Given the description of an element on the screen output the (x, y) to click on. 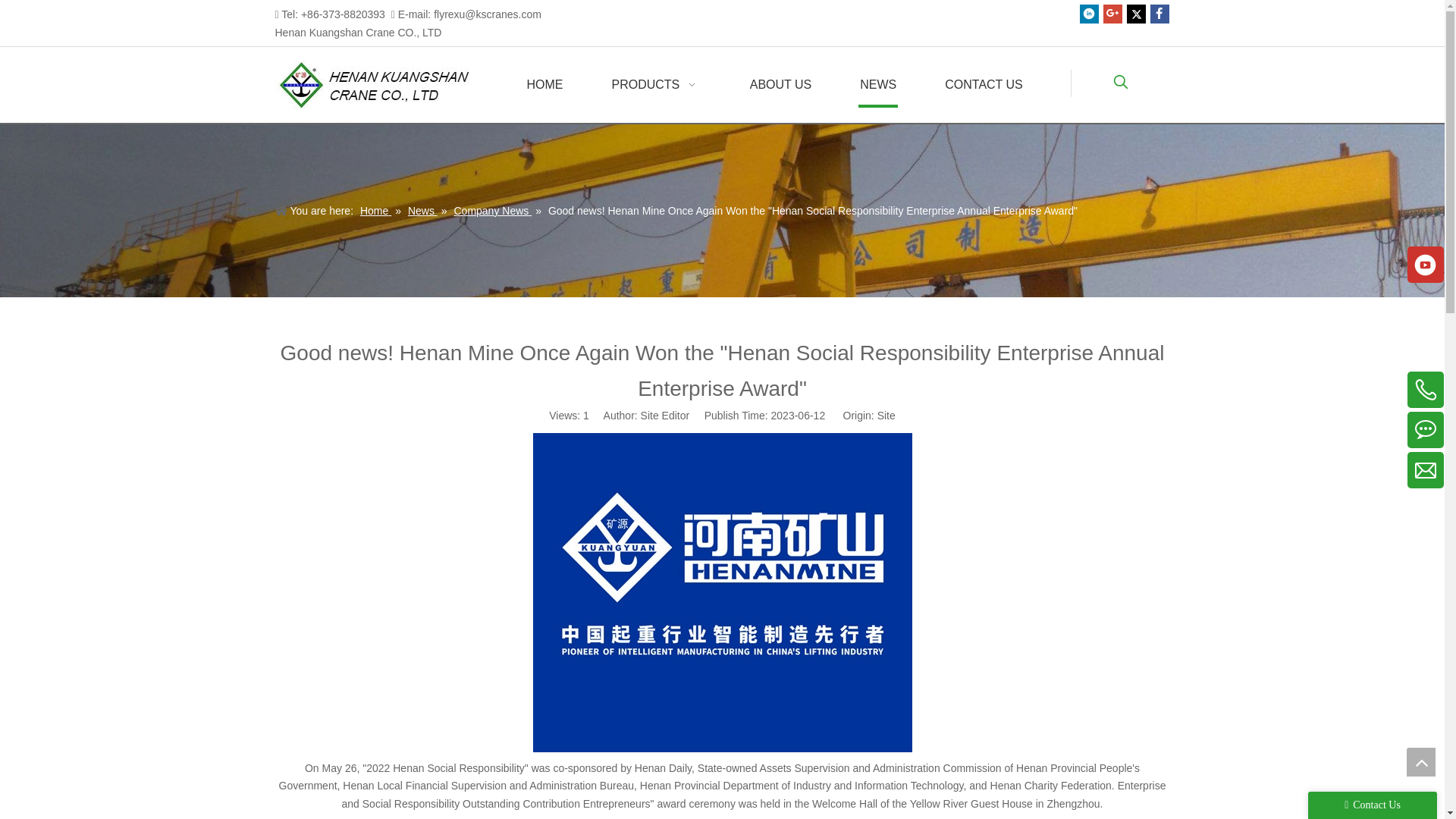
Linkedin (1089, 13)
Facebook (1159, 13)
CONTACT US (984, 84)
Home (375, 210)
Henan KuangShan Crane Co., LTD (380, 84)
Site (886, 415)
Company News (491, 210)
Twitter (1135, 13)
News (422, 210)
PRODUCTS   (655, 84)
ABOUT US (780, 84)
